Given the description of an element on the screen output the (x, y) to click on. 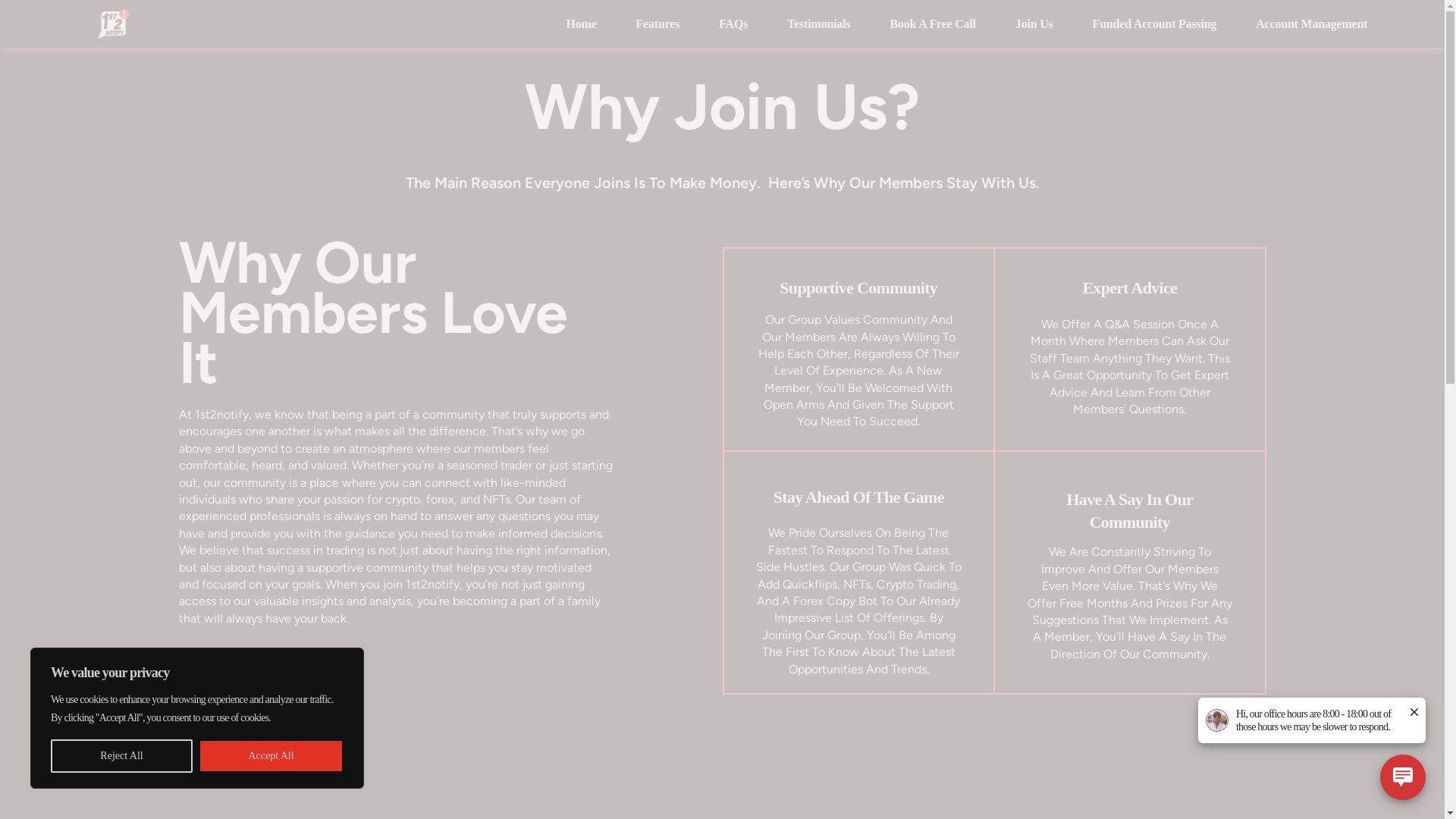
Join Now Element type: text (225, 685)
Funded Account Passing Element type: text (1154, 23)
FAQs Element type: text (732, 23)
Features Element type: text (658, 23)
Home Element type: text (580, 23)
Book A Free Call Element type: text (932, 23)
Join Us Element type: text (1034, 23)
Account Management Element type: text (1311, 23)
Accept All Element type: text (270, 755)
Testimonials Element type: text (818, 23)
Reject All Element type: text (121, 755)
